Given the description of an element on the screen output the (x, y) to click on. 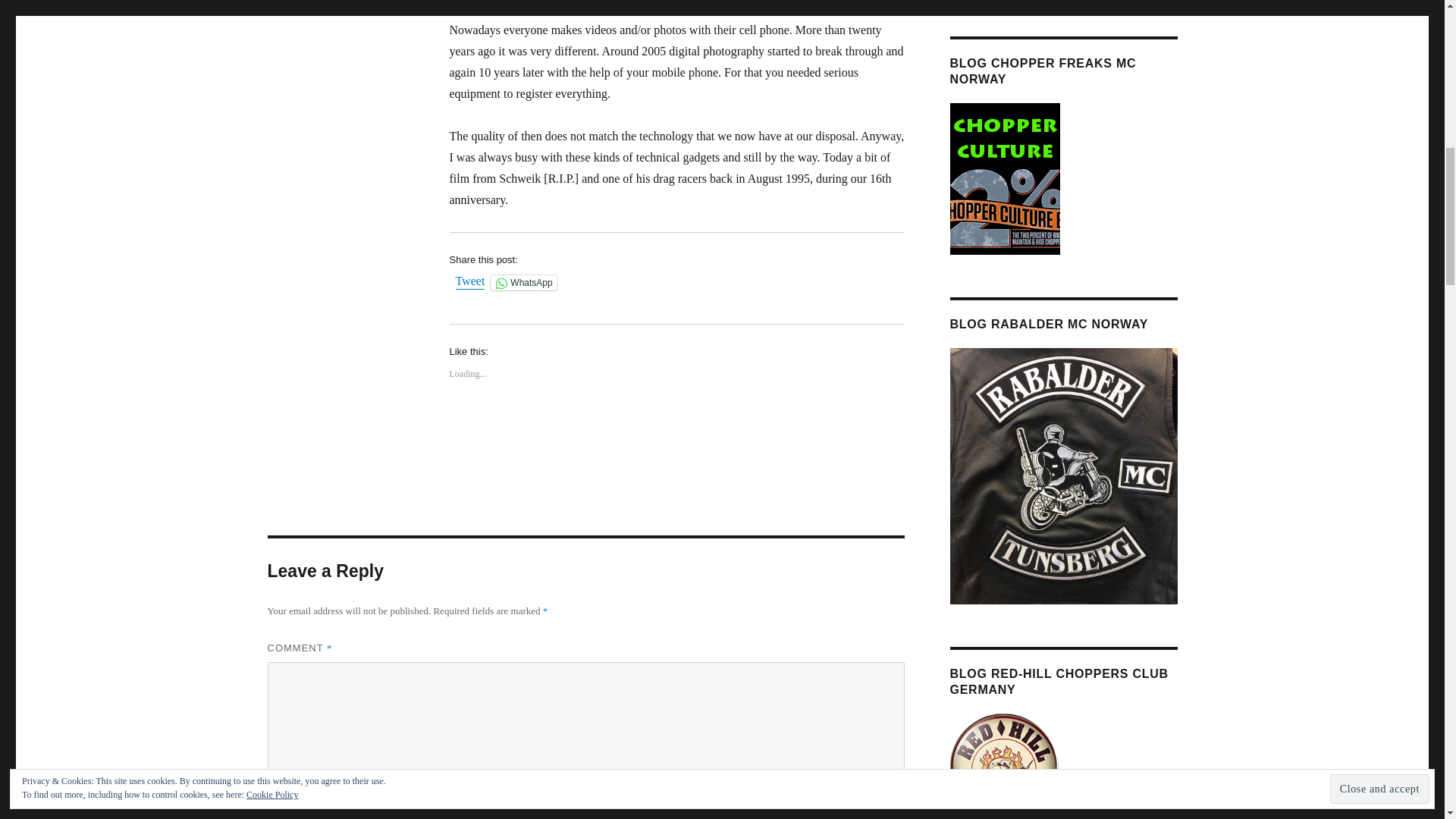
Tweet (469, 282)
Like or Reblog (676, 429)
blog red-hill choppers club germany (1004, 767)
WhatsApp (523, 282)
blog rabalder mc norway (1062, 474)
blog chopper freaks mc norway (1004, 177)
Click to share on WhatsApp (523, 282)
